Given the description of an element on the screen output the (x, y) to click on. 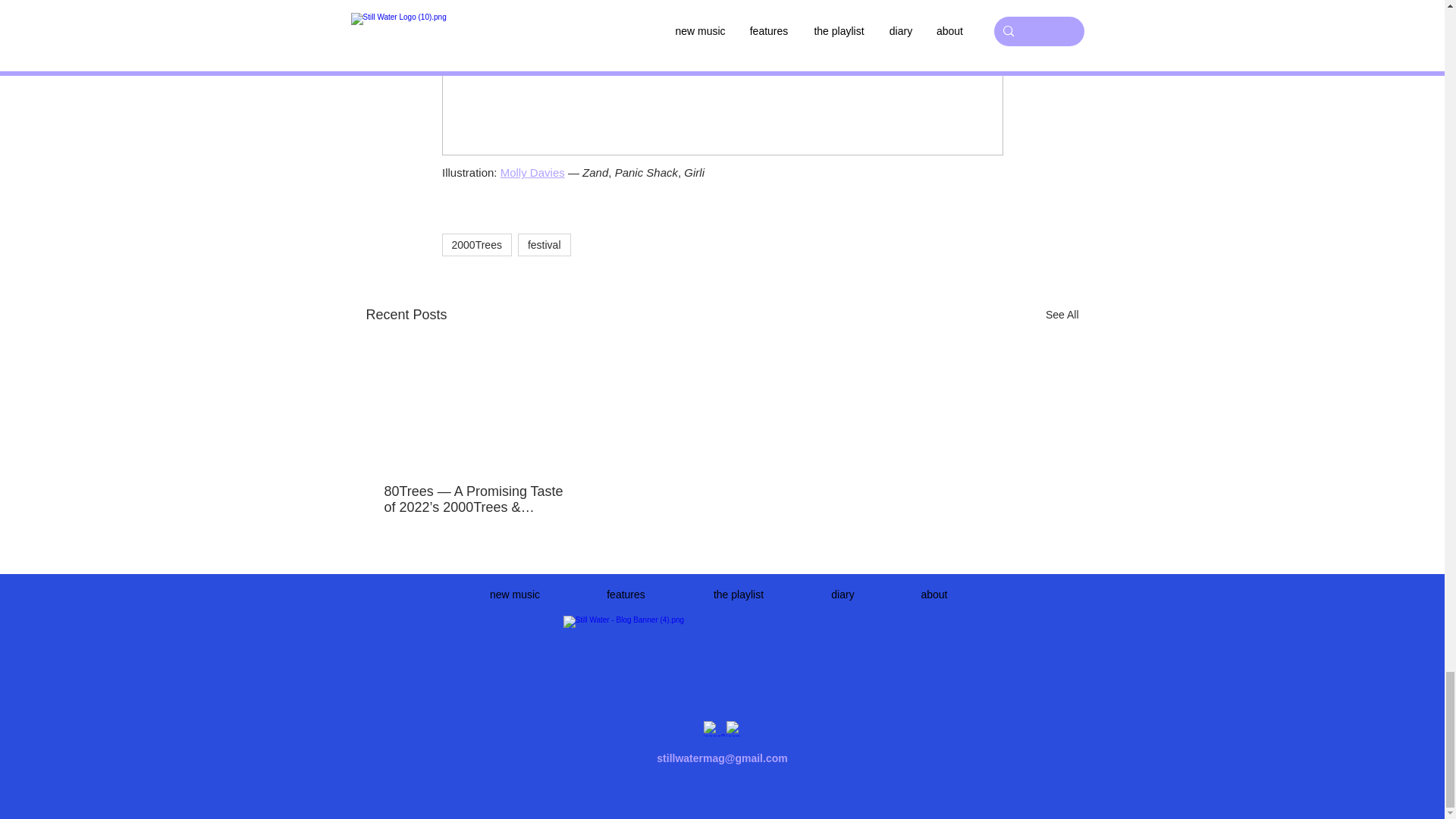
the playlist (738, 594)
features (626, 594)
2000Trees (476, 244)
about (932, 594)
diary (841, 594)
festival (544, 244)
See All (1061, 314)
new music (514, 594)
Molly Davies (531, 172)
